Given the description of an element on the screen output the (x, y) to click on. 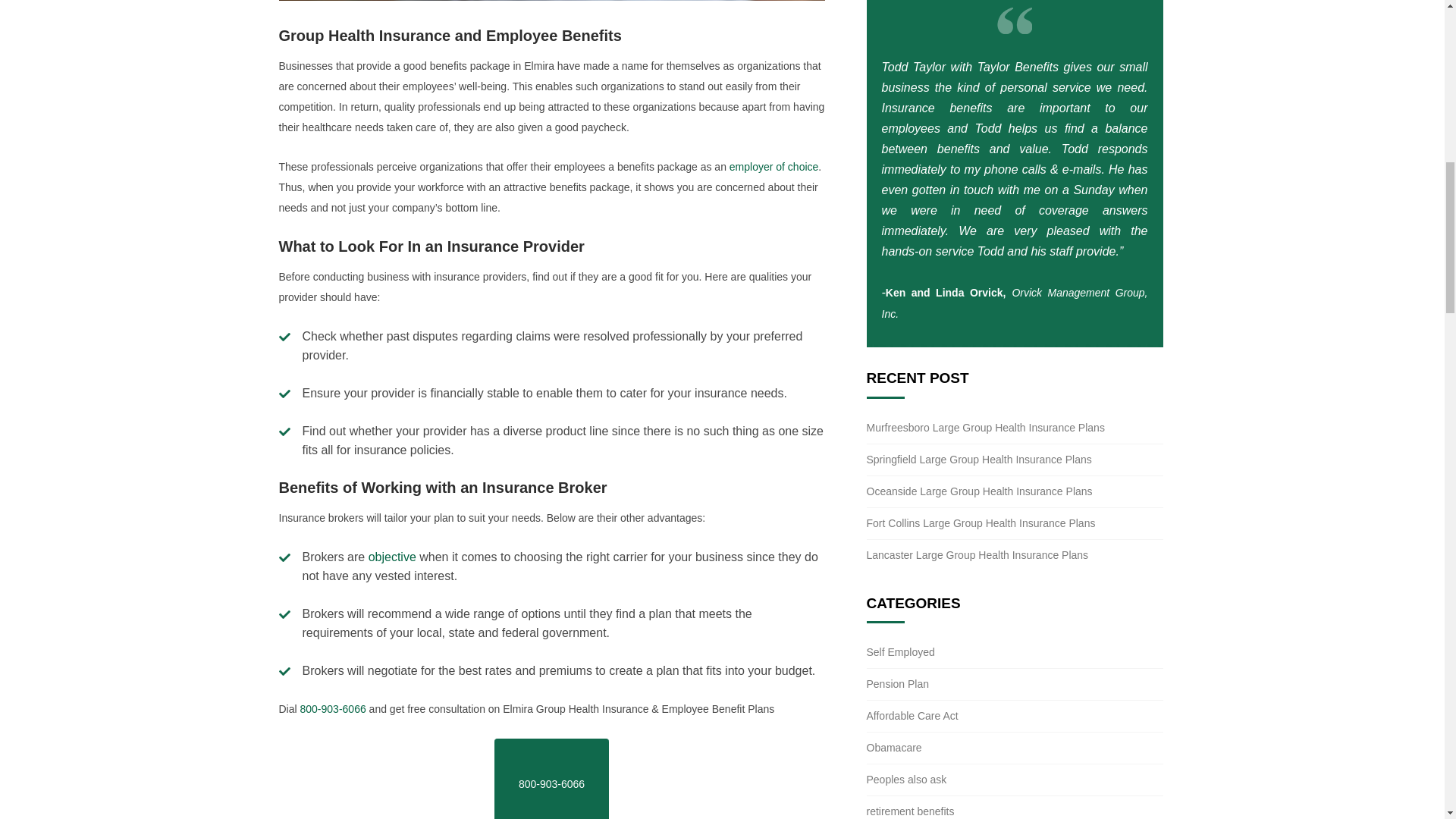
Lancaster Large Group Health Insurance Plans (976, 554)
objective (392, 556)
Fort Collins Large Group Health Insurance Plans (980, 522)
Affordable Care Act (912, 715)
800-903-6066 (551, 778)
Murfreesboro Large Group Health Insurance Plans (984, 427)
Self Employed (900, 652)
employer of choice (773, 166)
Pension Plan (897, 684)
Oceanside Large Group Health Insurance Plans (979, 491)
Springfield Large Group Health Insurance Plans (978, 459)
800-903-6066 (332, 708)
